Given the description of an element on the screen output the (x, y) to click on. 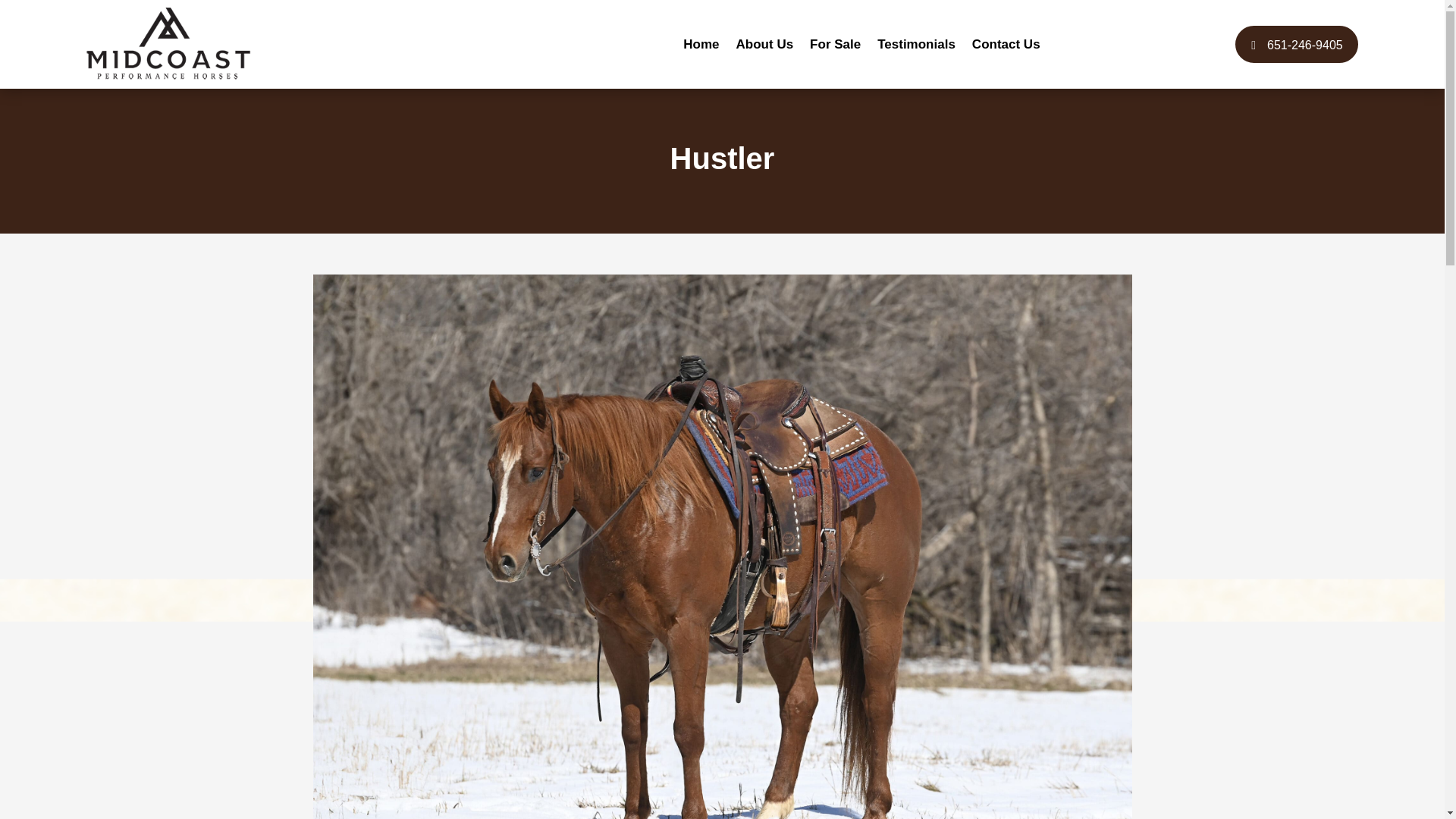
Testimonials (916, 44)
651-246-9405 (1296, 43)
Contact Us (1006, 44)
